Given the description of an element on the screen output the (x, y) to click on. 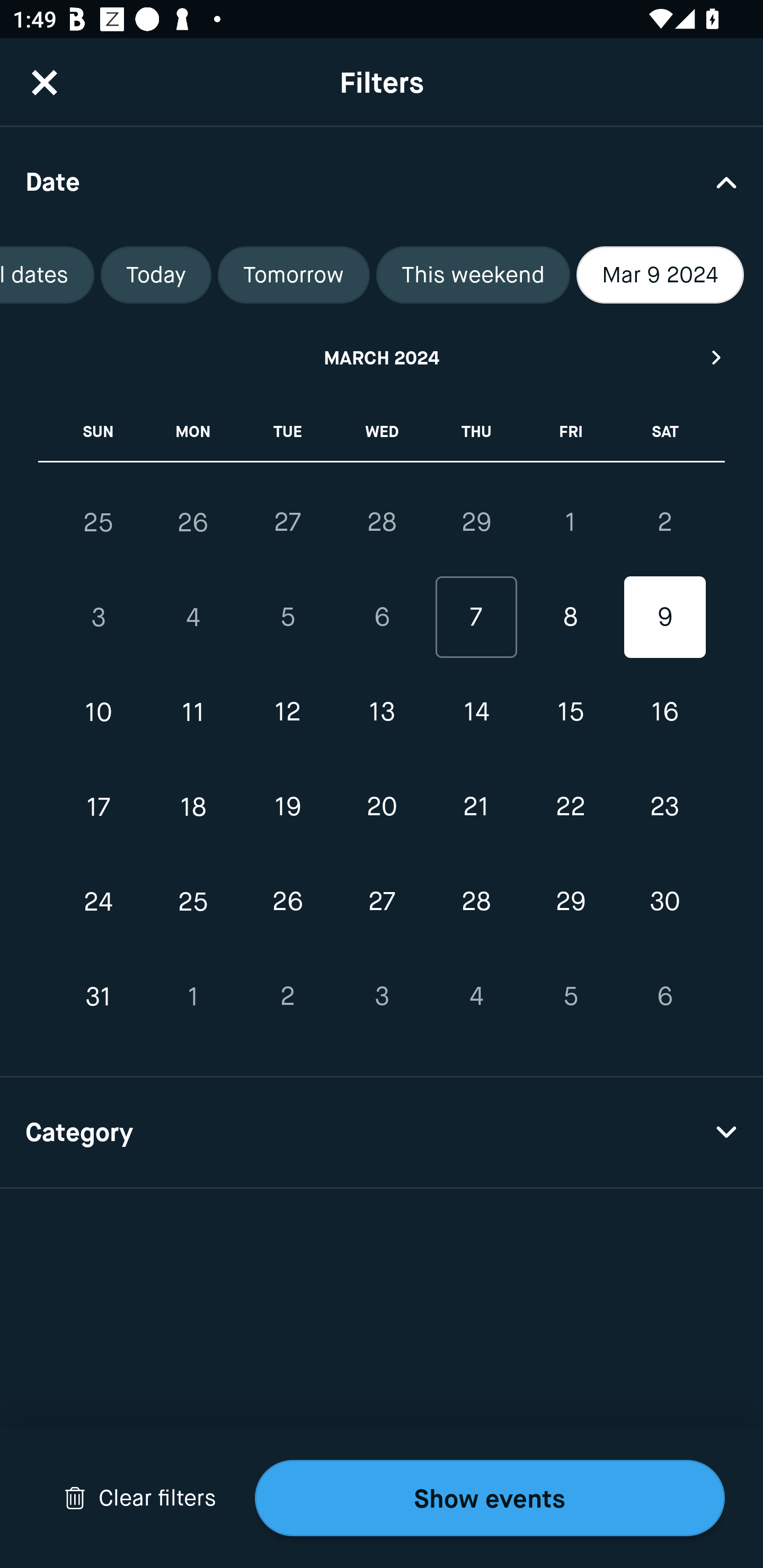
CloseButton (44, 82)
Date Drop Down Arrow (381, 181)
Today (155, 274)
Tomorrow (293, 274)
This weekend (472, 274)
Mar 9 2024 (659, 274)
Next (717, 357)
25 (98, 522)
26 (192, 522)
27 (287, 522)
28 (381, 522)
29 (475, 522)
1 (570, 522)
2 (664, 522)
3 (98, 617)
4 (192, 617)
5 (287, 617)
6 (381, 617)
7 (475, 617)
8 (570, 617)
9 (664, 617)
10 (98, 711)
11 (192, 711)
12 (287, 711)
13 (381, 711)
14 (475, 711)
15 (570, 711)
16 (664, 711)
17 (98, 806)
18 (192, 806)
19 (287, 806)
20 (381, 806)
21 (475, 806)
22 (570, 806)
23 (664, 806)
24 (98, 901)
25 (192, 901)
26 (287, 901)
27 (381, 901)
28 (475, 901)
29 (570, 901)
30 (664, 901)
31 (98, 996)
1 (192, 996)
2 (287, 996)
3 (381, 996)
4 (475, 996)
5 (570, 996)
6 (664, 996)
Category Drop Down Arrow (381, 1132)
Drop Down Arrow Clear filters (139, 1497)
Show events (489, 1497)
